Given the description of an element on the screen output the (x, y) to click on. 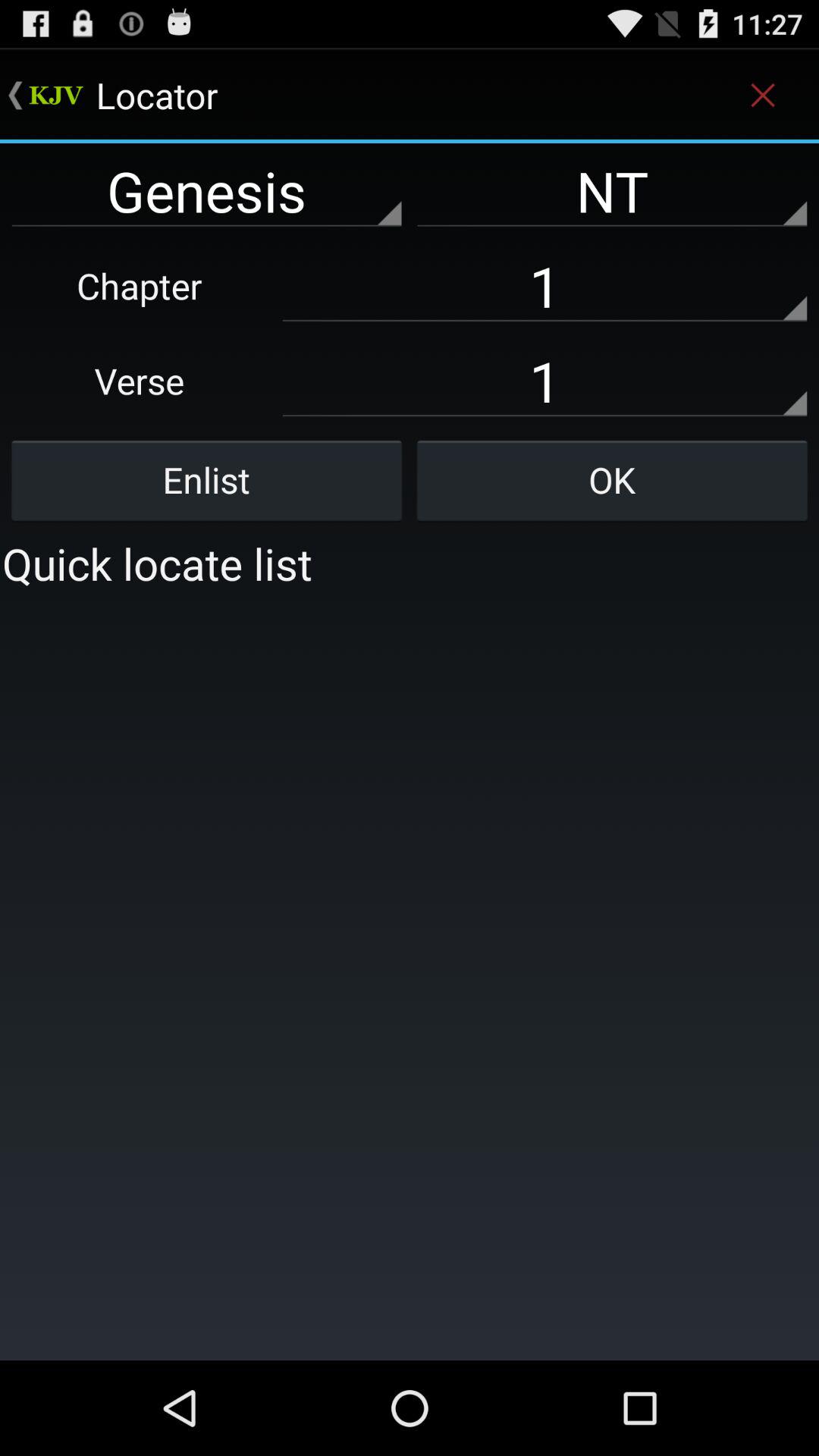
choose the item next to the ok (206, 479)
